Given the description of an element on the screen output the (x, y) to click on. 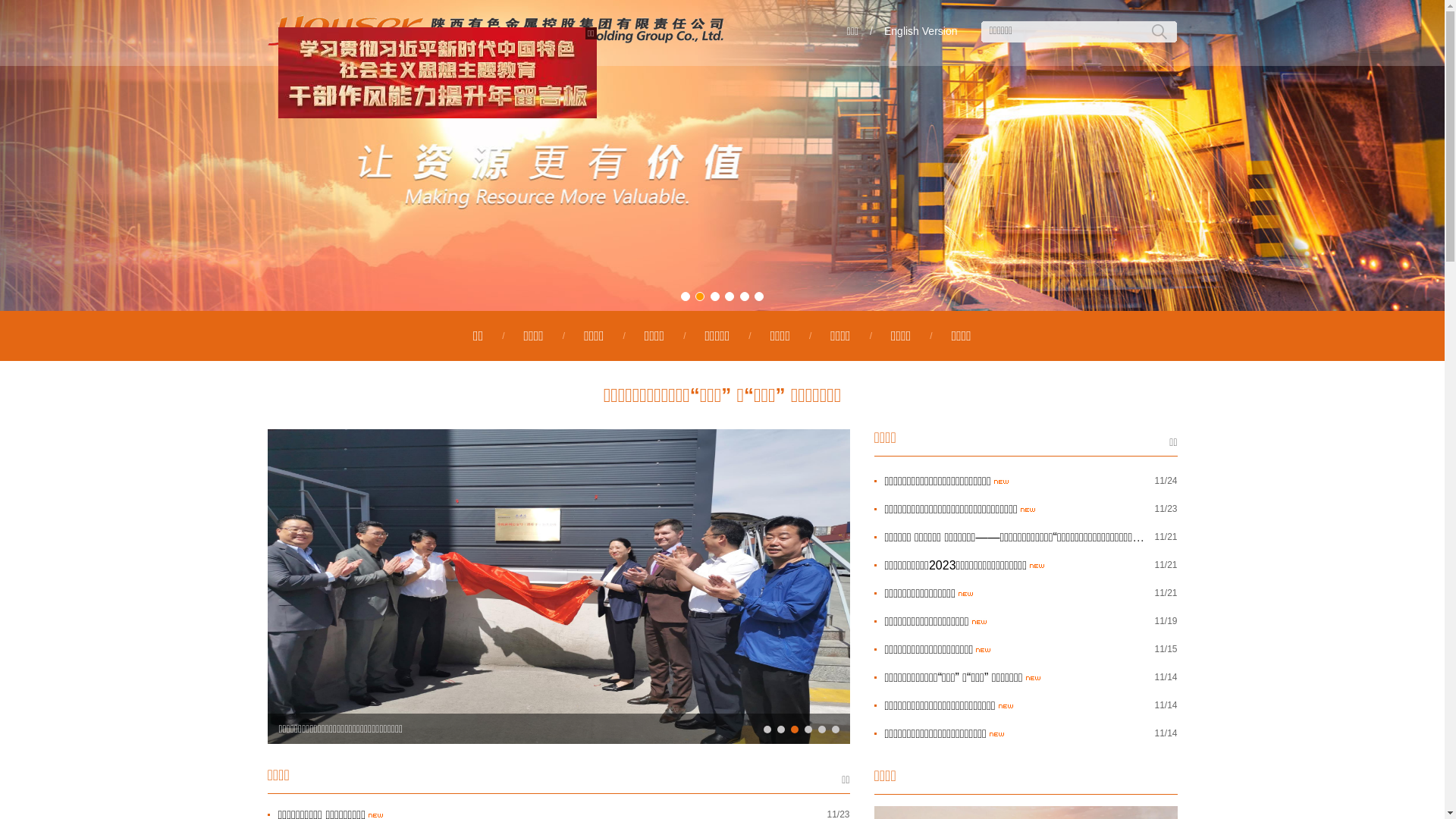
English Version Element type: text (920, 31)
